Given the description of an element on the screen output the (x, y) to click on. 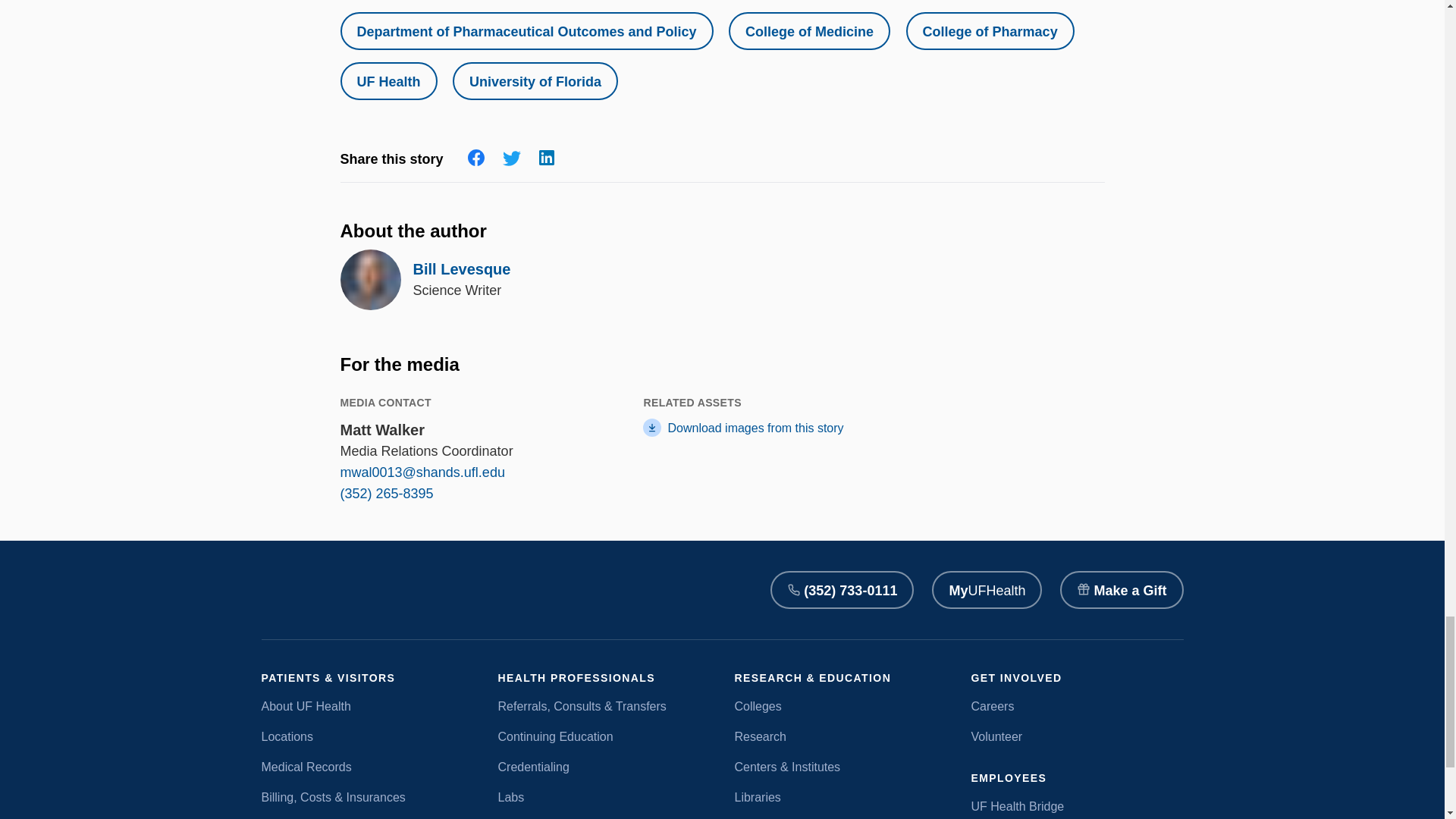
College of Pharmacy (989, 30)
UF Health (387, 80)
Department of Pharmaceutical Outcomes and Policy (526, 30)
Facebook (475, 157)
Twitter (511, 158)
University of Florida (534, 80)
LinkedIn (546, 157)
Bill Levesque (461, 269)
College of Medicine (809, 30)
